Given the description of an element on the screen output the (x, y) to click on. 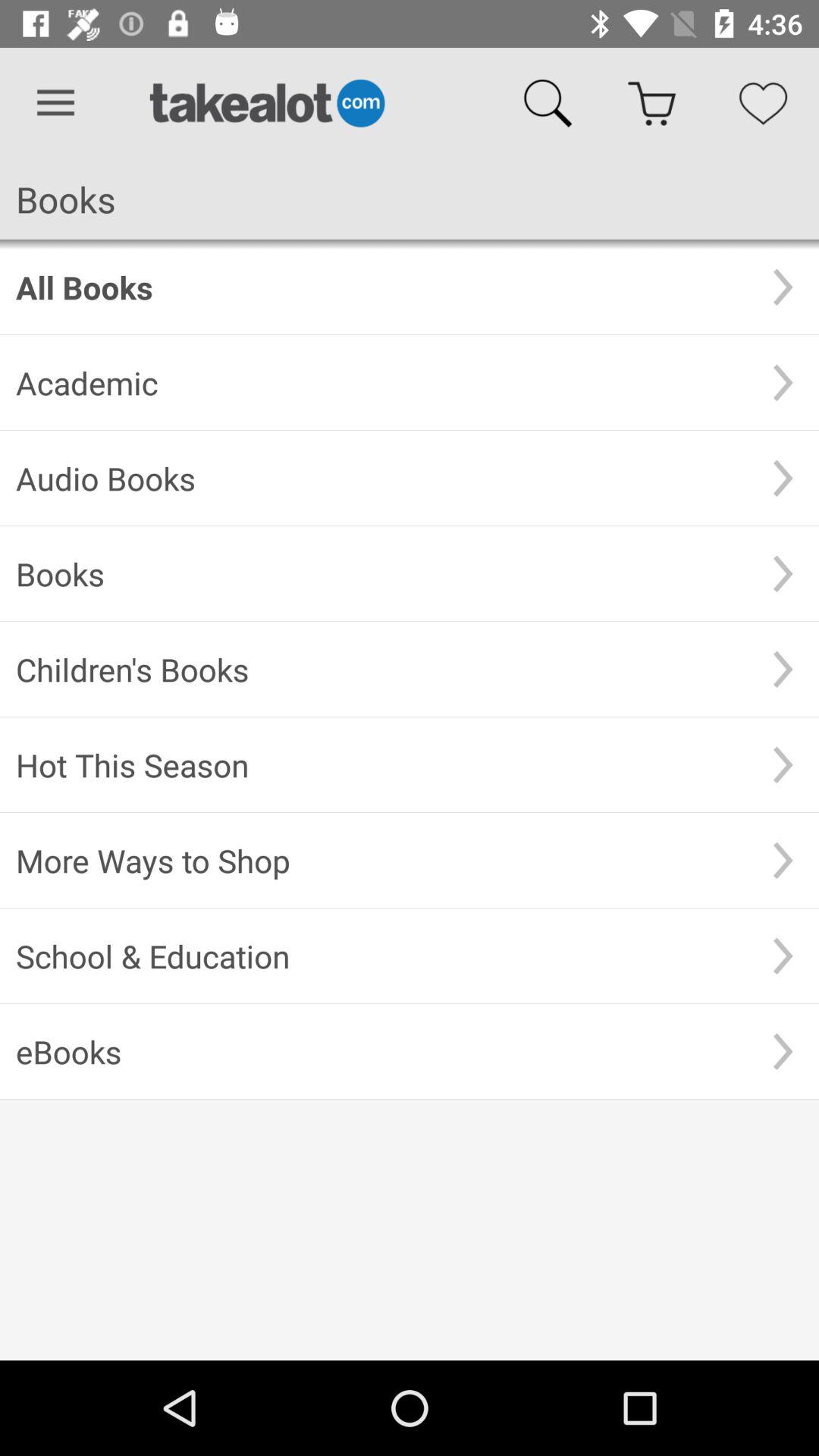
turn off the item below the children's books (381, 764)
